Given the description of an element on the screen output the (x, y) to click on. 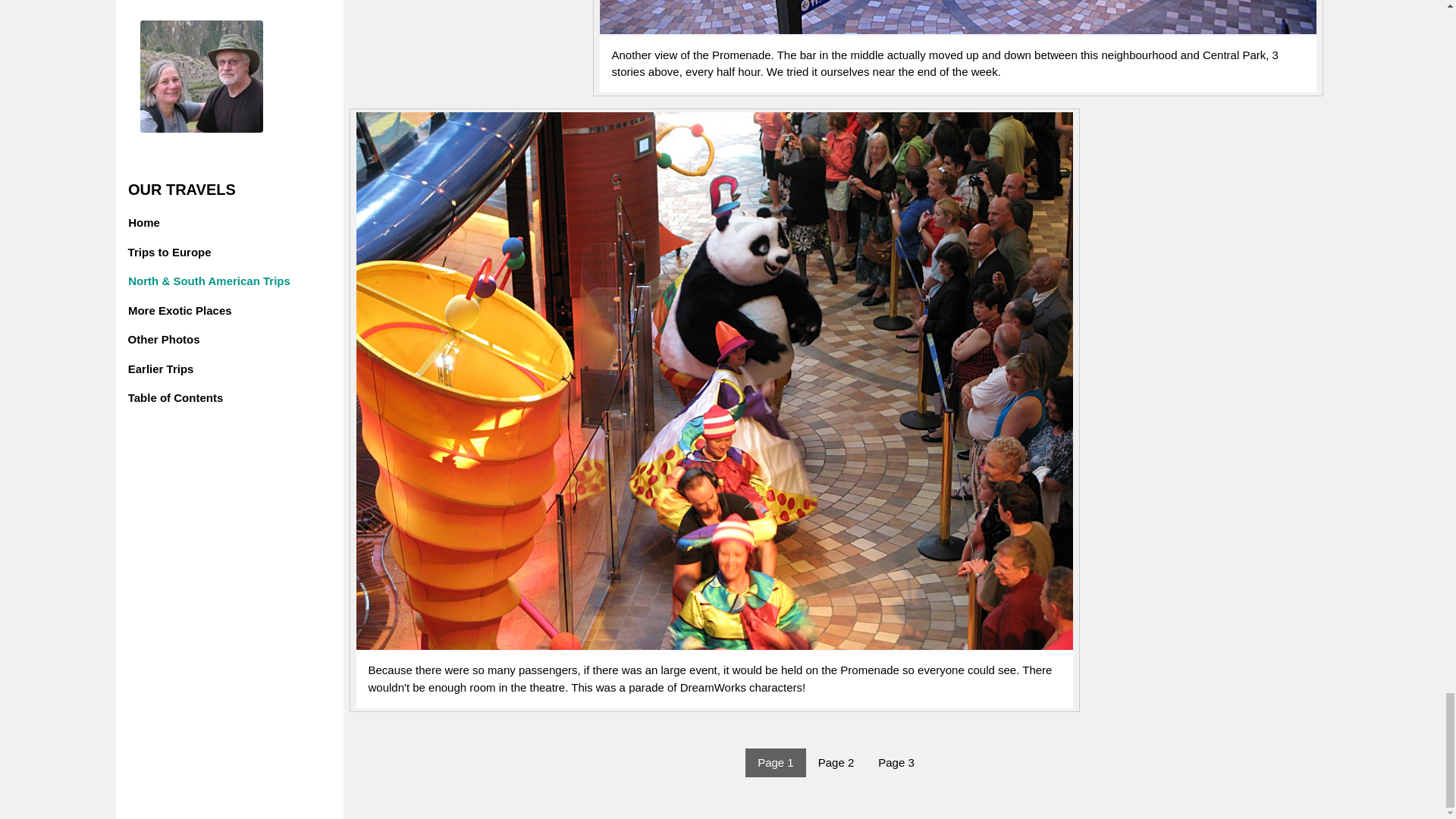
Page 2 (836, 763)
Page 3 (896, 763)
Page 1 (775, 763)
